Given the description of an element on the screen output the (x, y) to click on. 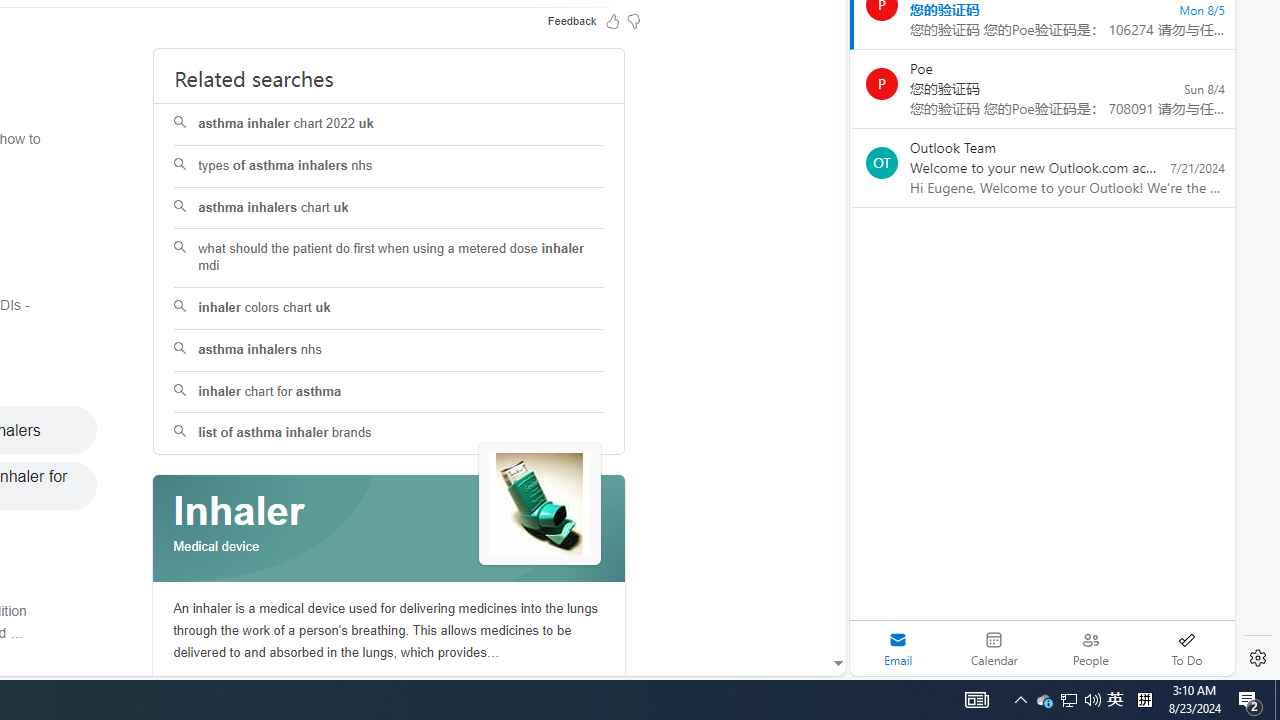
Class: spl_logobg (389, 529)
